Given the description of an element on the screen output the (x, y) to click on. 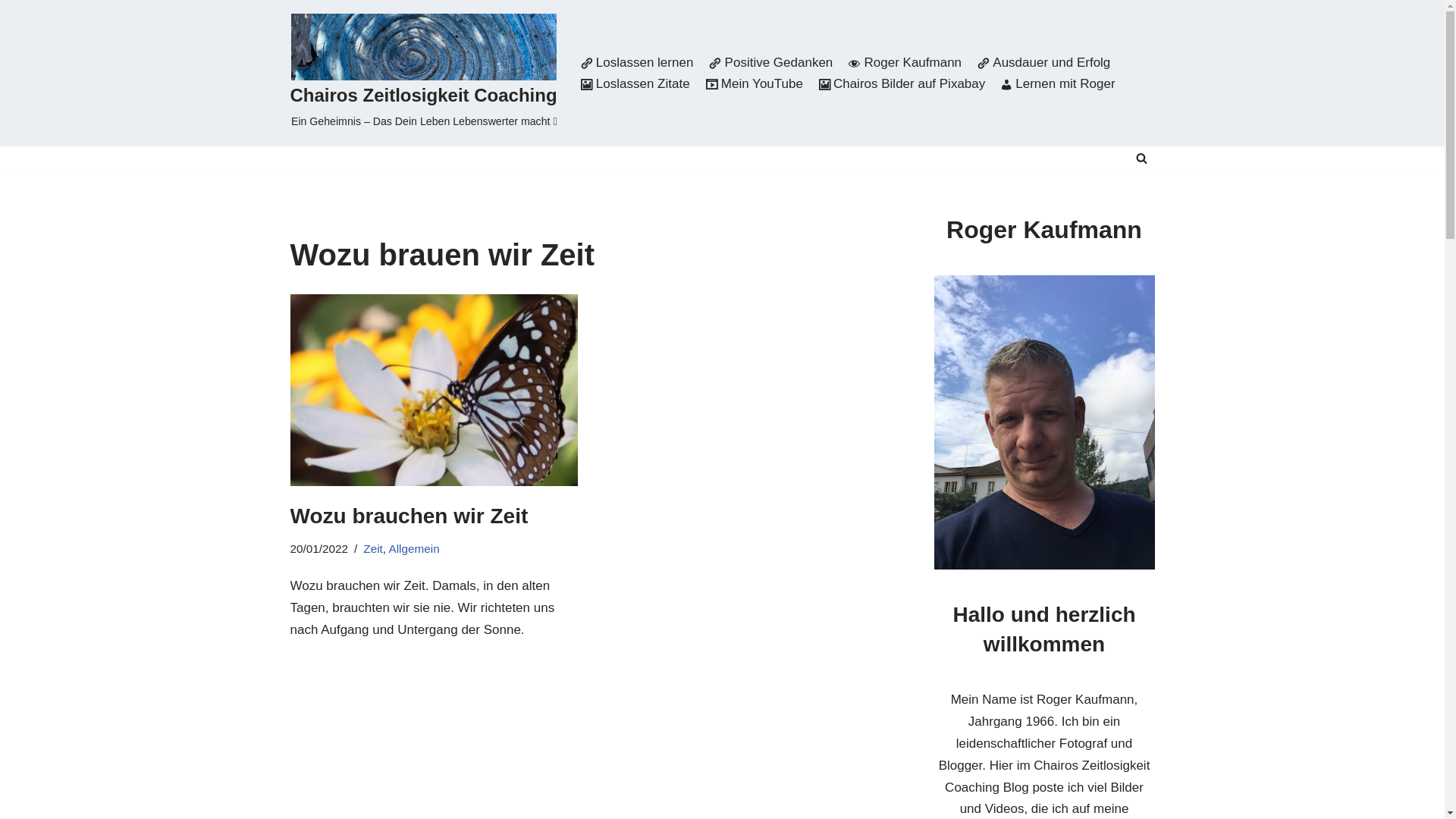
Mein YouTube Element type: text (754, 83)
Loslassen lernen Element type: text (636, 62)
Wozu brauchen wir Zeit Element type: text (408, 515)
Zeit Element type: text (372, 548)
Zum Inhalt Element type: text (11, 31)
Ausdauer und Erfolg Element type: text (1043, 62)
Allgemein Element type: text (413, 548)
Positive Gedanken Element type: text (770, 62)
Roger Kaufmann Element type: text (904, 62)
Lernen mit Roger Element type: text (1057, 83)
Loslassen Zitate Element type: text (635, 83)
Chairos Bilder auf Pixabay Element type: text (901, 83)
Wozu brauchen wir Zeit Element type: hover (433, 390)
